Given the description of an element on the screen output the (x, y) to click on. 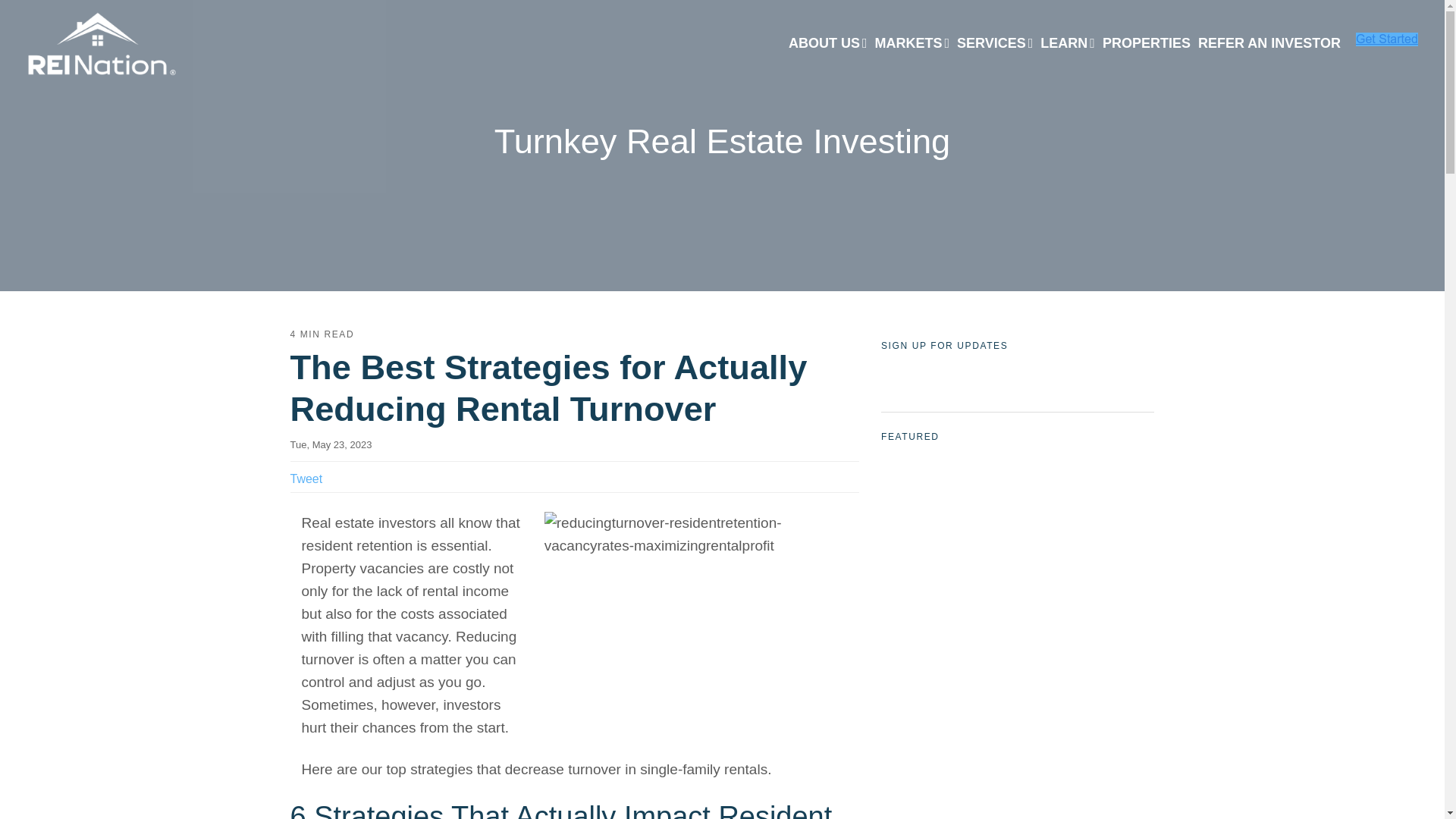
ABOUT US (827, 43)
SERVICES (994, 43)
LEARN (1067, 43)
MARKETS (911, 43)
